Given the description of an element on the screen output the (x, y) to click on. 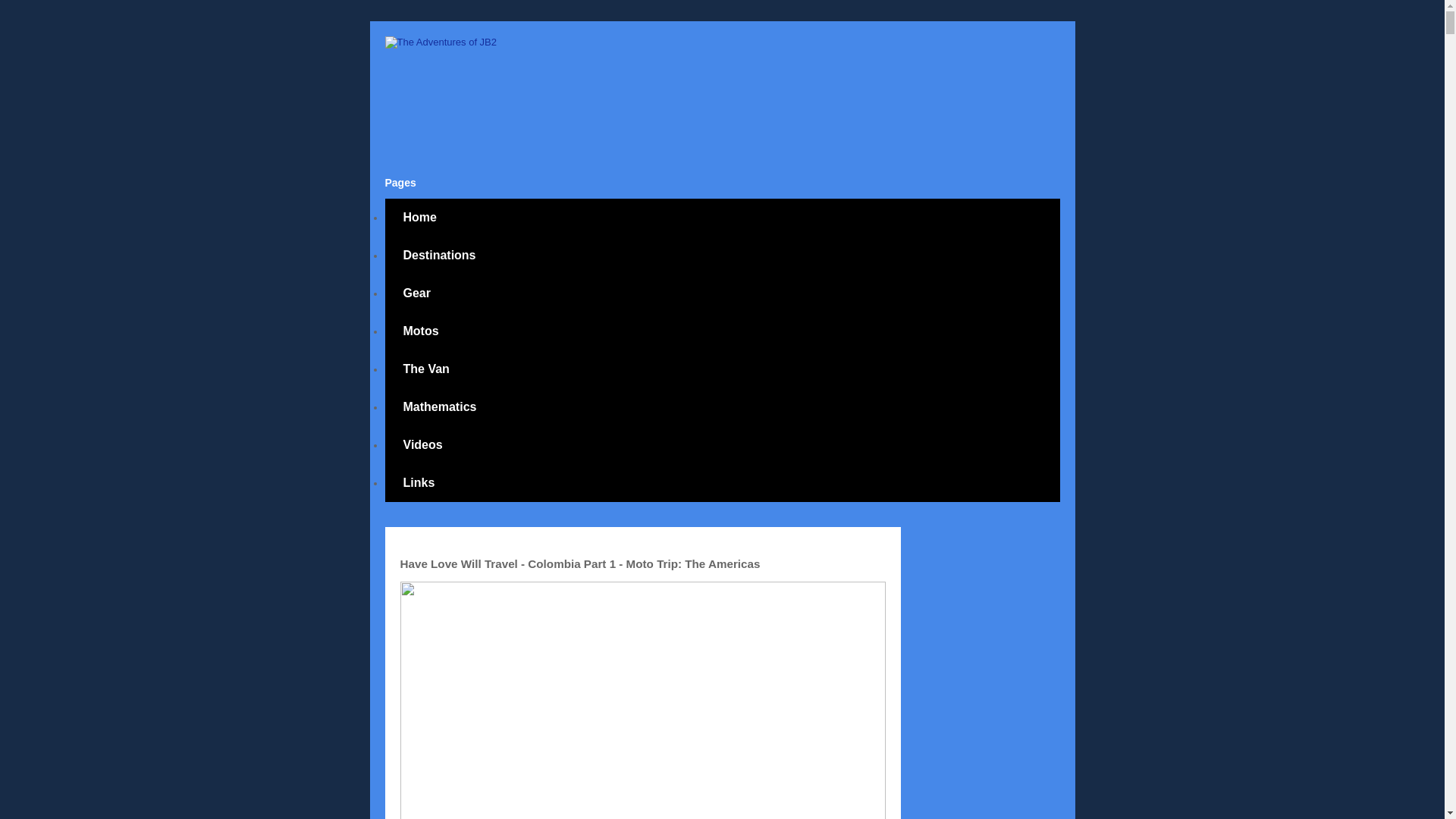
Motos (421, 331)
Home (419, 217)
Destinations (440, 255)
The Van (426, 369)
Videos (423, 444)
Gear (416, 293)
Links (418, 483)
Mathematics (440, 406)
